Given the description of an element on the screen output the (x, y) to click on. 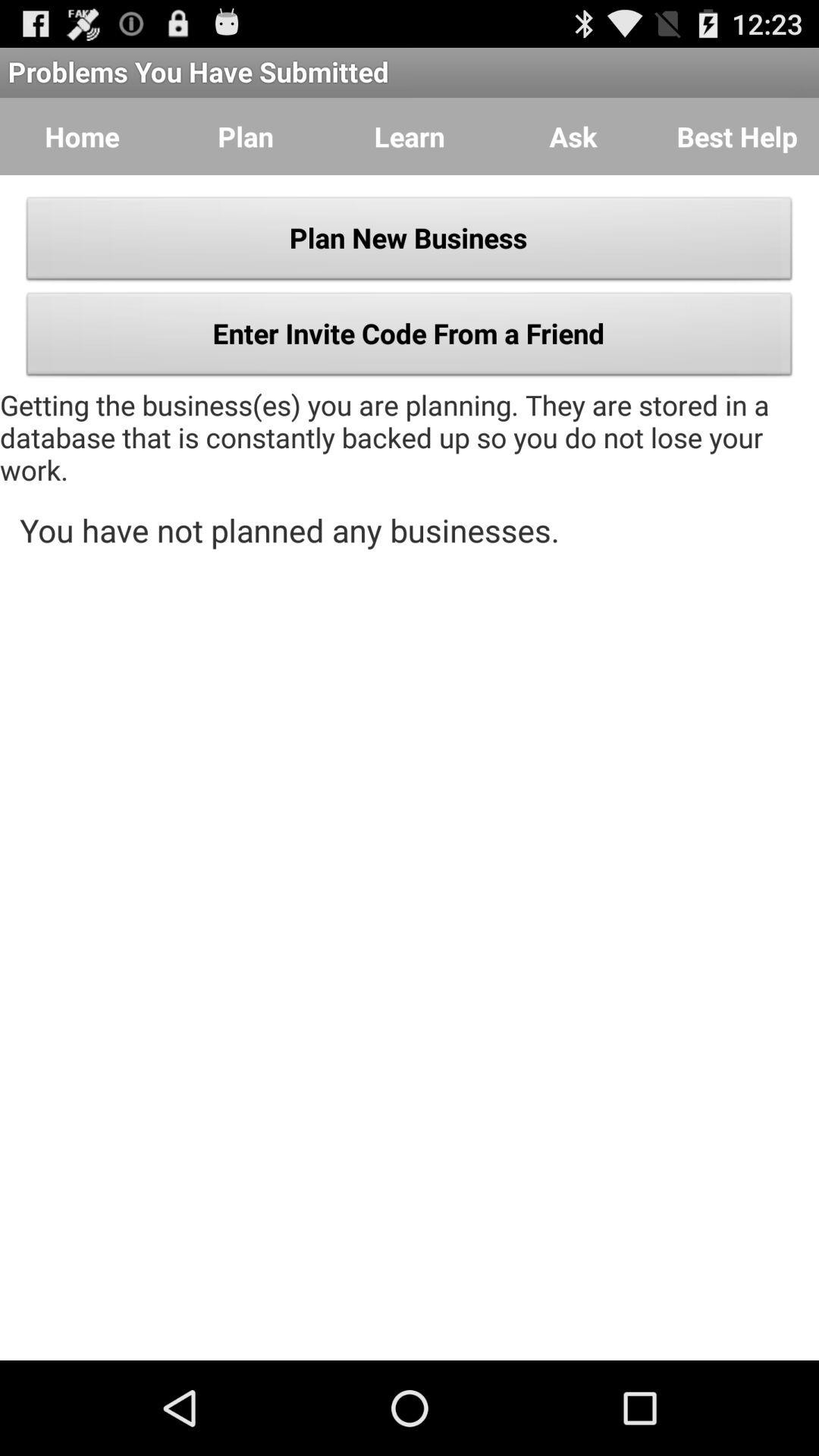
open the button to the right of learn item (573, 136)
